Given the description of an element on the screen output the (x, y) to click on. 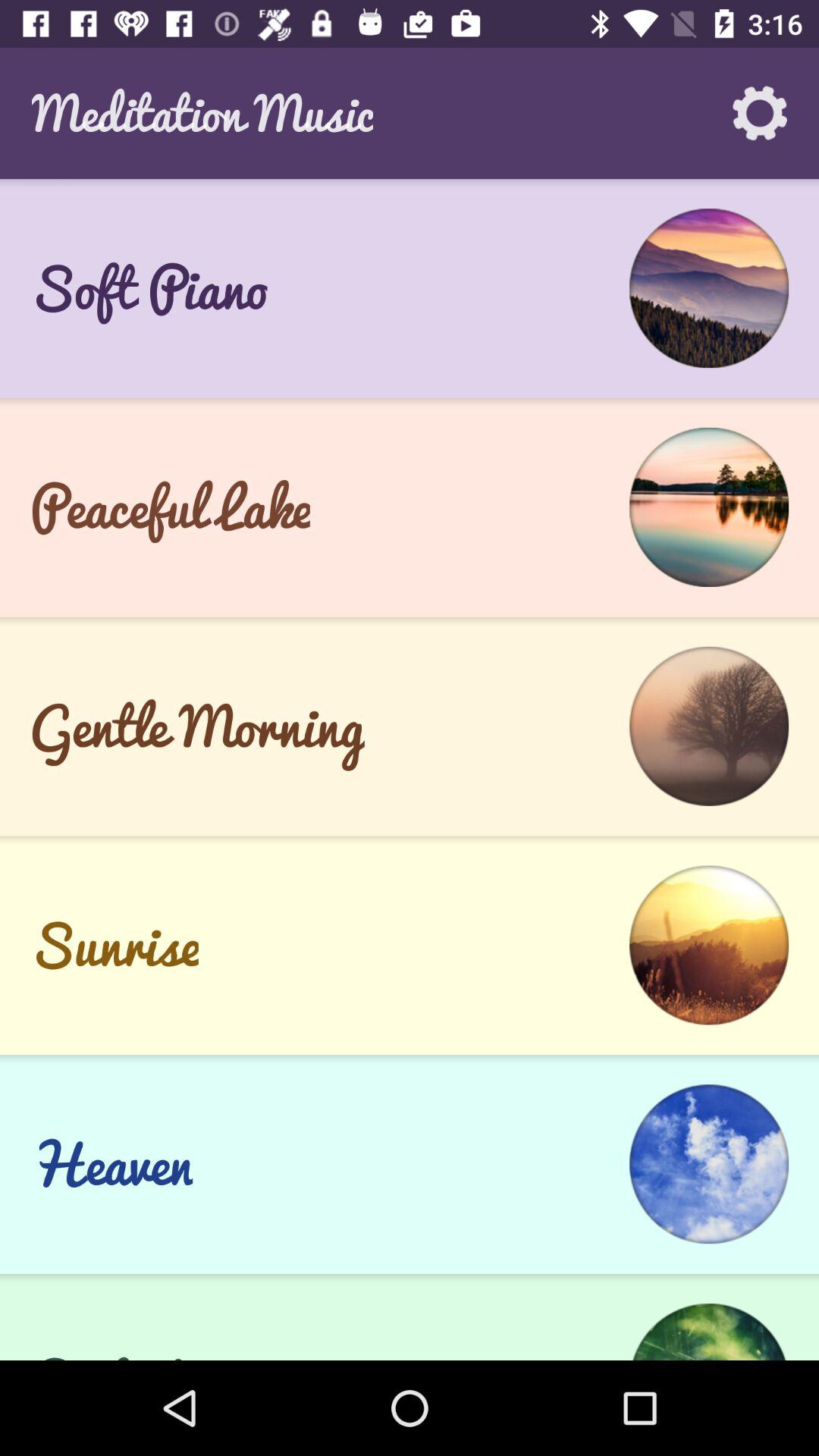
press the item below the meditation music (409, 288)
